Given the description of an element on the screen output the (x, y) to click on. 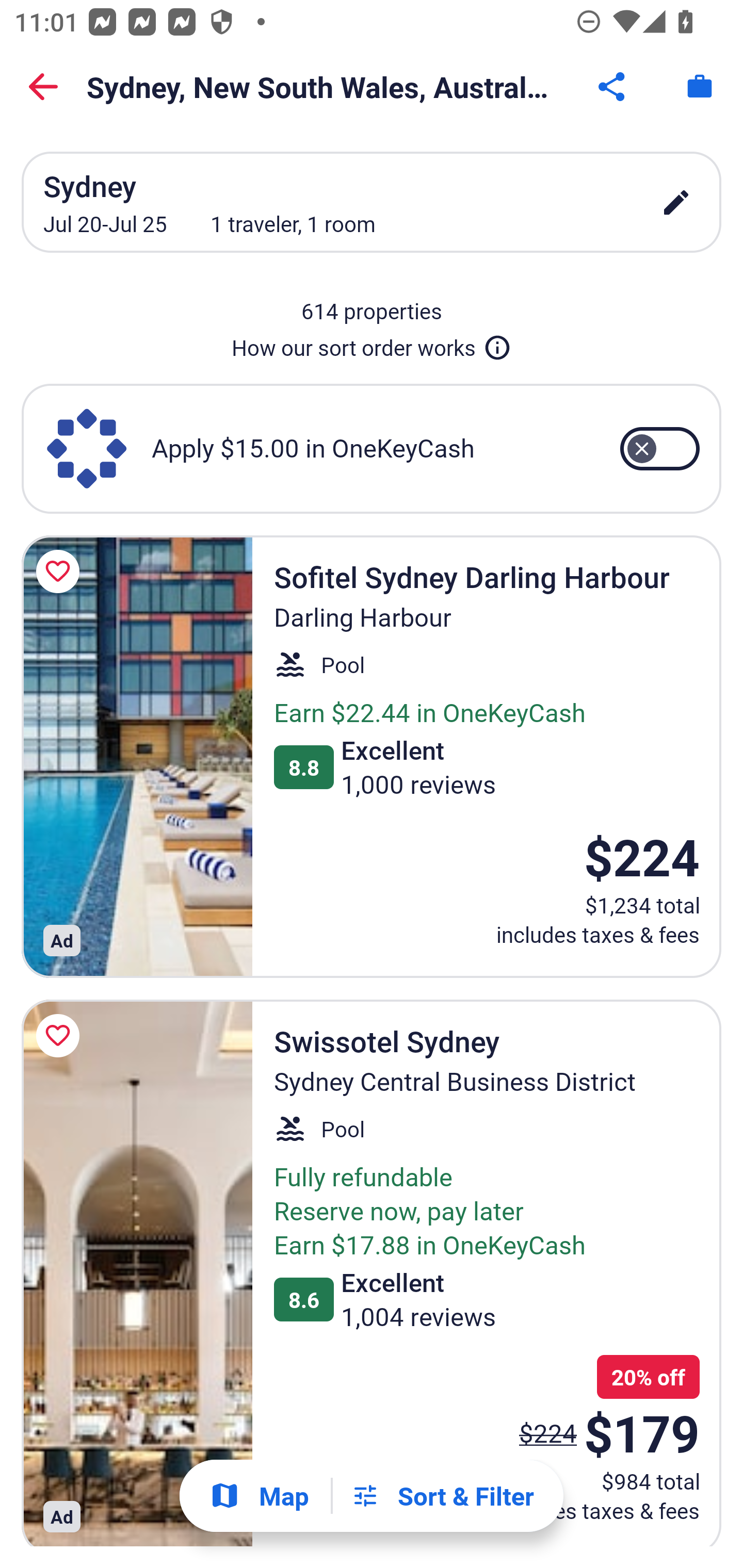
Back (43, 86)
Share Button (612, 86)
Trips. Button (699, 86)
Sydney Jul 20-Jul 25 1 traveler, 1 room edit (371, 202)
How our sort order works (371, 344)
Save Sofitel Sydney Darling Harbour to a trip (61, 571)
Sofitel Sydney Darling Harbour (136, 756)
Save Swissotel Sydney to a trip (61, 1035)
Swissotel Sydney (136, 1273)
$224 The price was $224 (547, 1432)
Filters Sort & Filter Filters Button (442, 1495)
Show map Map Show map Button (258, 1495)
